Given the description of an element on the screen output the (x, y) to click on. 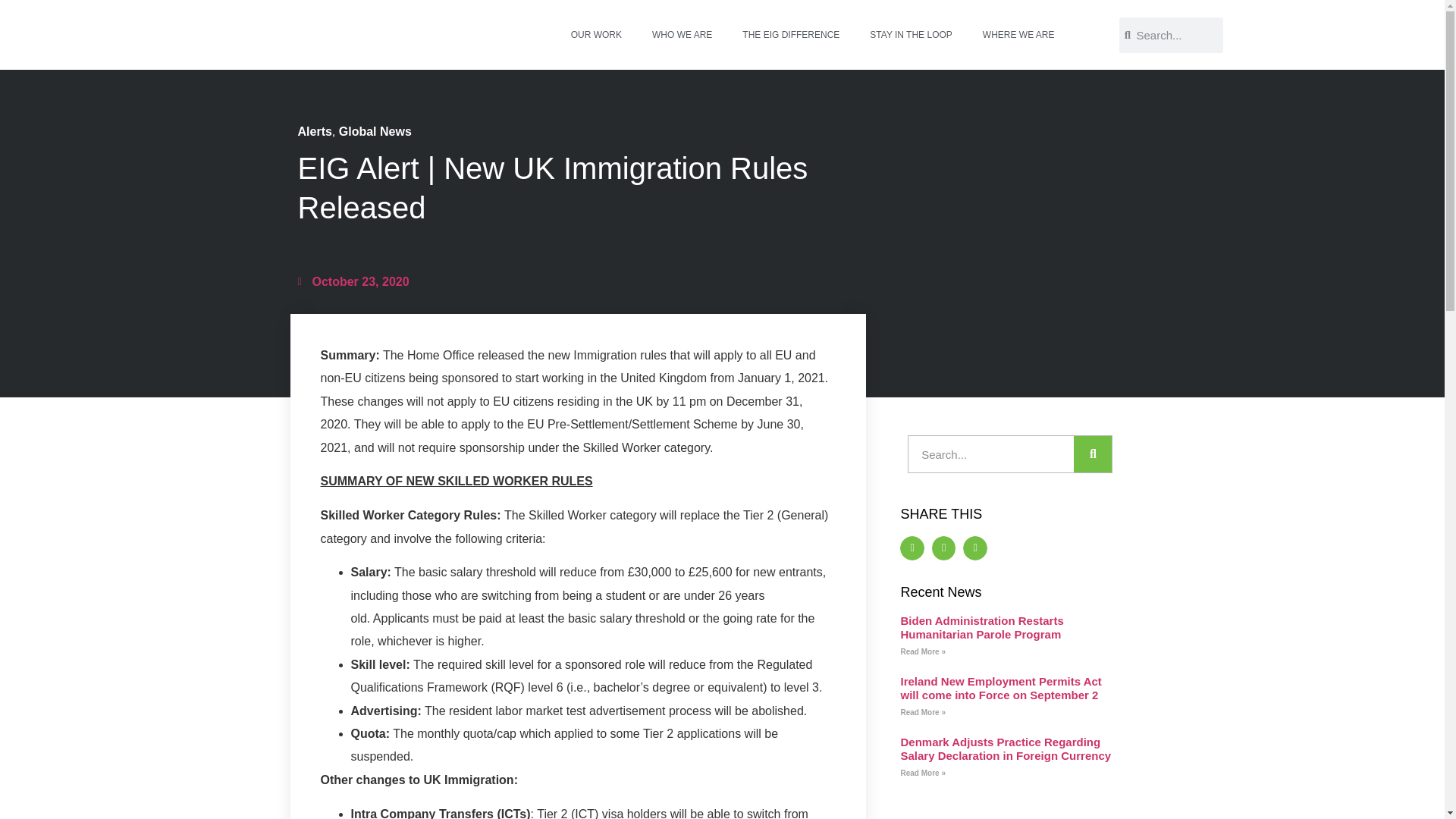
THE EIG DIFFERENCE (790, 34)
WHO WE ARE (681, 34)
STAY IN THE LOOP (910, 34)
WHERE WE ARE (1019, 34)
OUR WORK (596, 34)
